Given the description of an element on the screen output the (x, y) to click on. 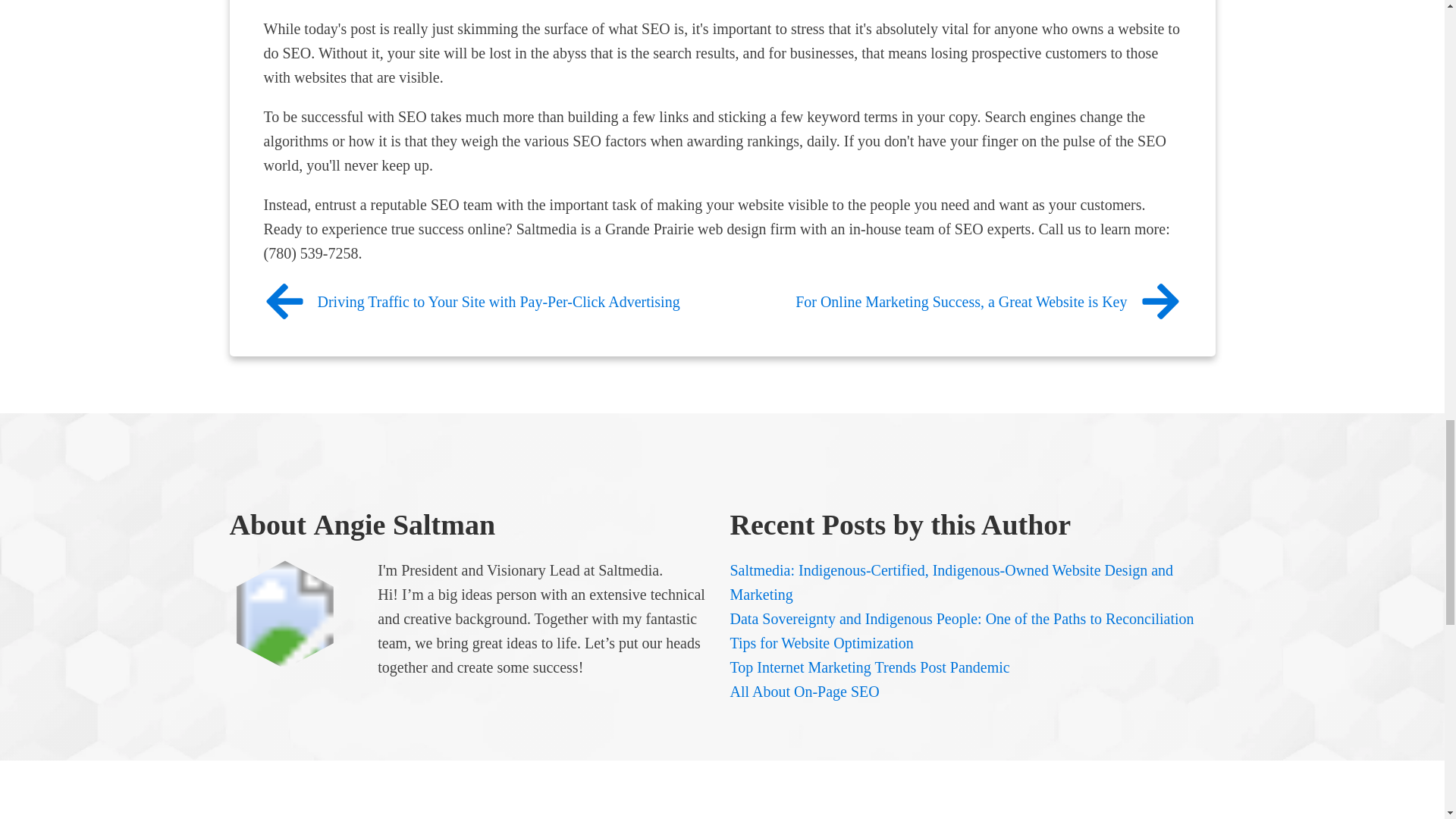
Tips for Website Optimization  (823, 642)
Driving Traffic to Your Site with Pay-Per-Click Advertising (471, 301)
All About On-Page SEO (804, 691)
Top Internet Marketing Trends Post Pandemic (869, 667)
Driving Traffic to Your Site with Pay-Per-Click Advertising (471, 301)
For Online Marketing Success, a Great Website is Key (987, 301)
For Online Marketing Success, a Great Website is Key (987, 301)
